Given the description of an element on the screen output the (x, y) to click on. 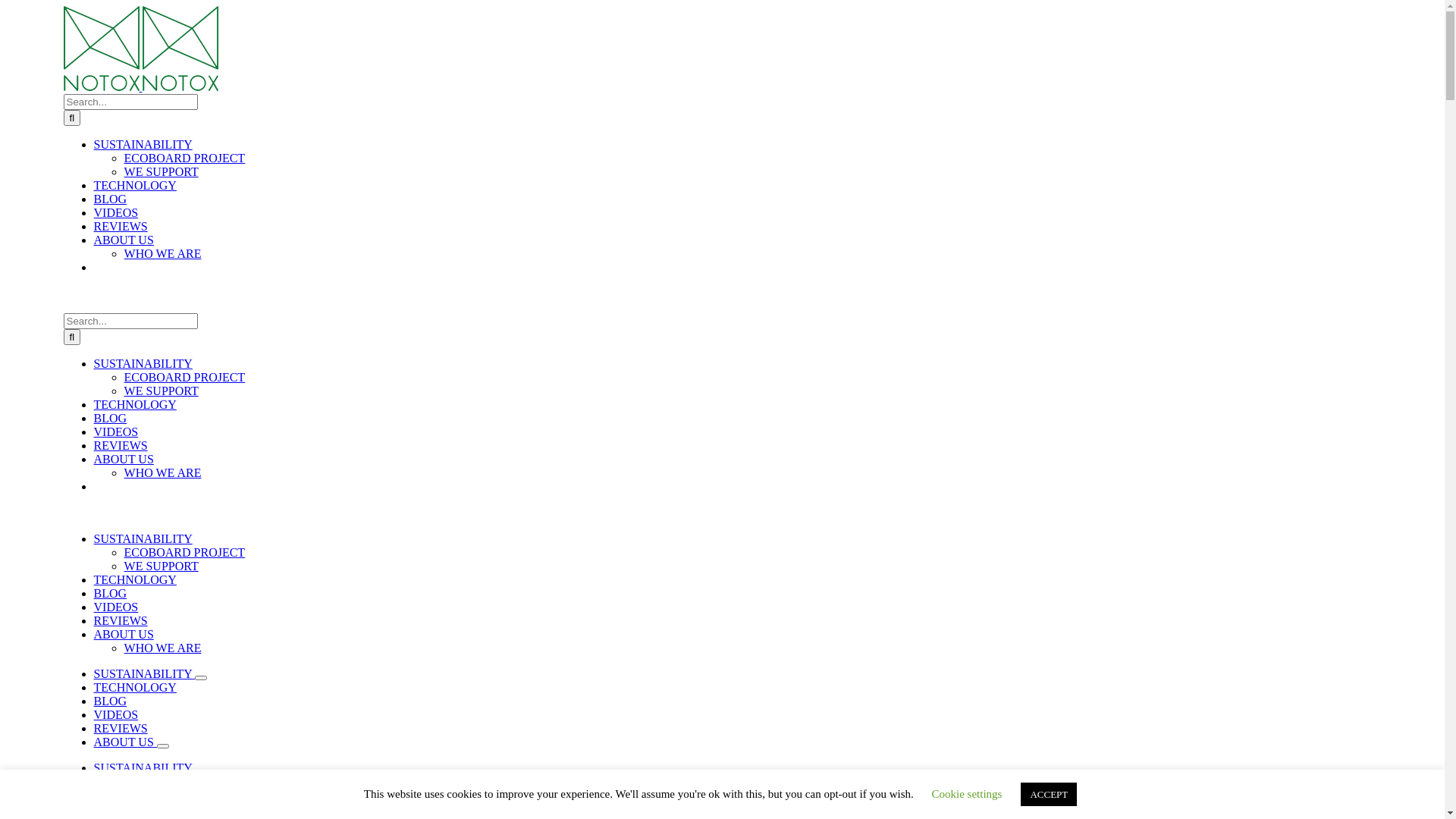
WHO WE ARE Element type: text (162, 647)
TECHNOLOGY Element type: text (135, 781)
SUSTAINABILITY Element type: text (144, 673)
TECHNOLOGY Element type: text (135, 686)
WHO WE ARE Element type: text (162, 253)
Skip to content Element type: text (5, 5)
BLOG Element type: text (110, 700)
VIDEOS Element type: text (116, 606)
TECHNOLOGY Element type: text (135, 579)
WE SUPPORT Element type: text (161, 565)
SUSTAINABILITY Element type: text (143, 538)
SUSTAINABILITY Element type: text (143, 363)
Cookie settings Element type: text (966, 793)
REVIEWS Element type: text (120, 225)
WHO WE ARE Element type: text (162, 472)
ECOBOARD PROJECT Element type: text (184, 157)
REVIEWS Element type: text (120, 620)
BLOG Element type: text (110, 417)
ABOUT US Element type: text (125, 741)
ACCEPT Element type: text (1048, 794)
SUSTAINABILITY Element type: text (144, 767)
WE SUPPORT Element type: text (161, 390)
ABOUT US Element type: text (123, 458)
REVIEWS Element type: text (120, 445)
ECOBOARD PROJECT Element type: text (184, 376)
ECOBOARD PROJECT Element type: text (184, 552)
BLOG Element type: text (110, 198)
VIDEOS Element type: text (116, 714)
BLOG Element type: text (110, 592)
ABOUT US Element type: text (123, 633)
TECHNOLOGY Element type: text (135, 404)
ABOUT US Element type: text (123, 239)
VIDEOS Element type: text (116, 808)
WE SUPPORT Element type: text (161, 171)
BLOG Element type: text (110, 794)
VIDEOS Element type: text (116, 212)
TECHNOLOGY Element type: text (135, 184)
REVIEWS Element type: text (120, 727)
VIDEOS Element type: text (116, 431)
SUSTAINABILITY Element type: text (143, 144)
